Given the description of an element on the screen output the (x, y) to click on. 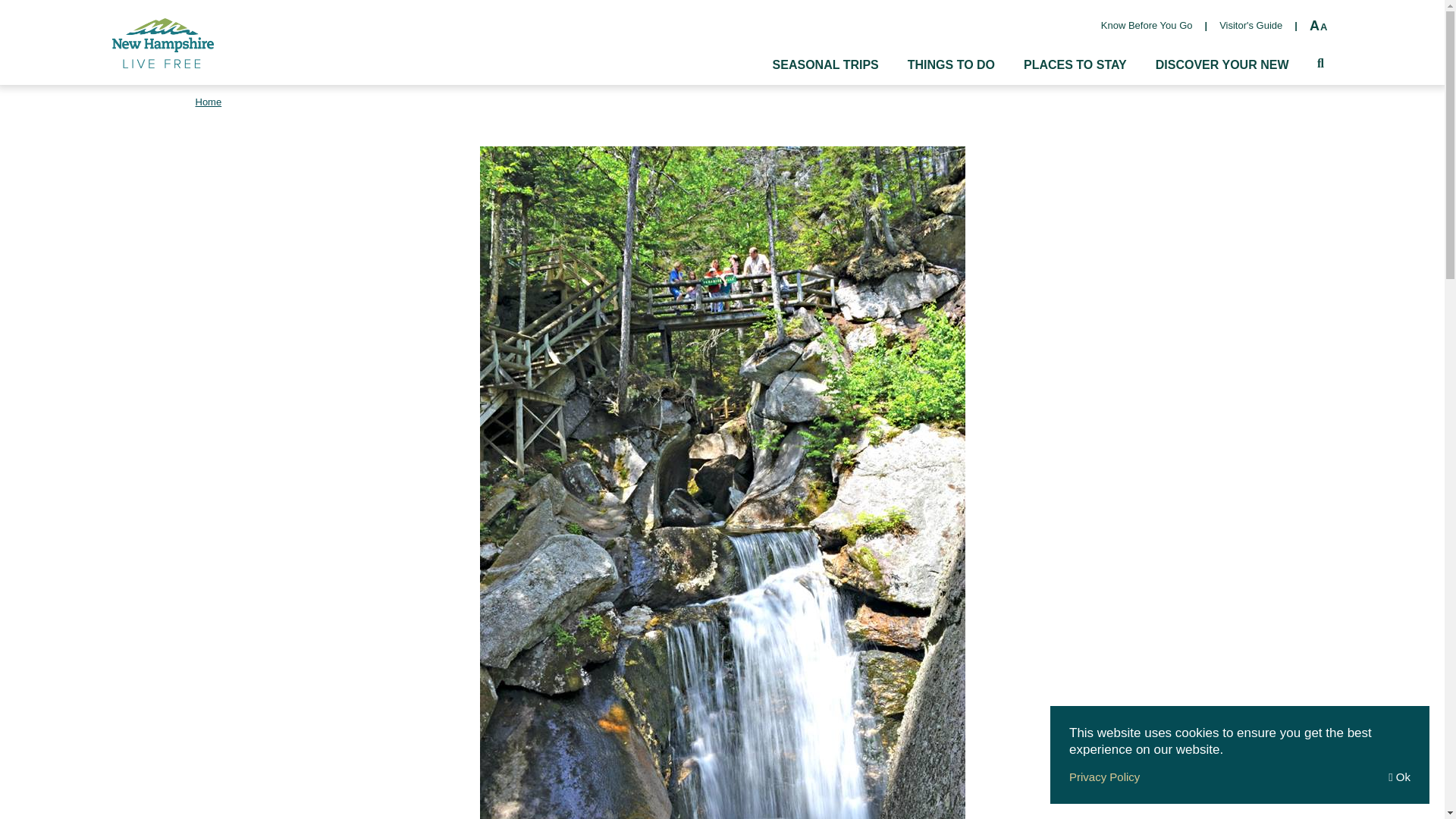
Return to Home Page (163, 42)
THINGS TO DO (950, 69)
PLACES TO STAY (1074, 69)
Visitors Guide (1251, 25)
DISCOVER YOUR NEW (1222, 69)
Visitor's Guide (1251, 25)
Know Before You Go (1146, 25)
Know Before You Go: Travel Information (1146, 25)
Visit NH Logo (163, 42)
SEASONAL TRIPS (826, 69)
